Given the description of an element on the screen output the (x, y) to click on. 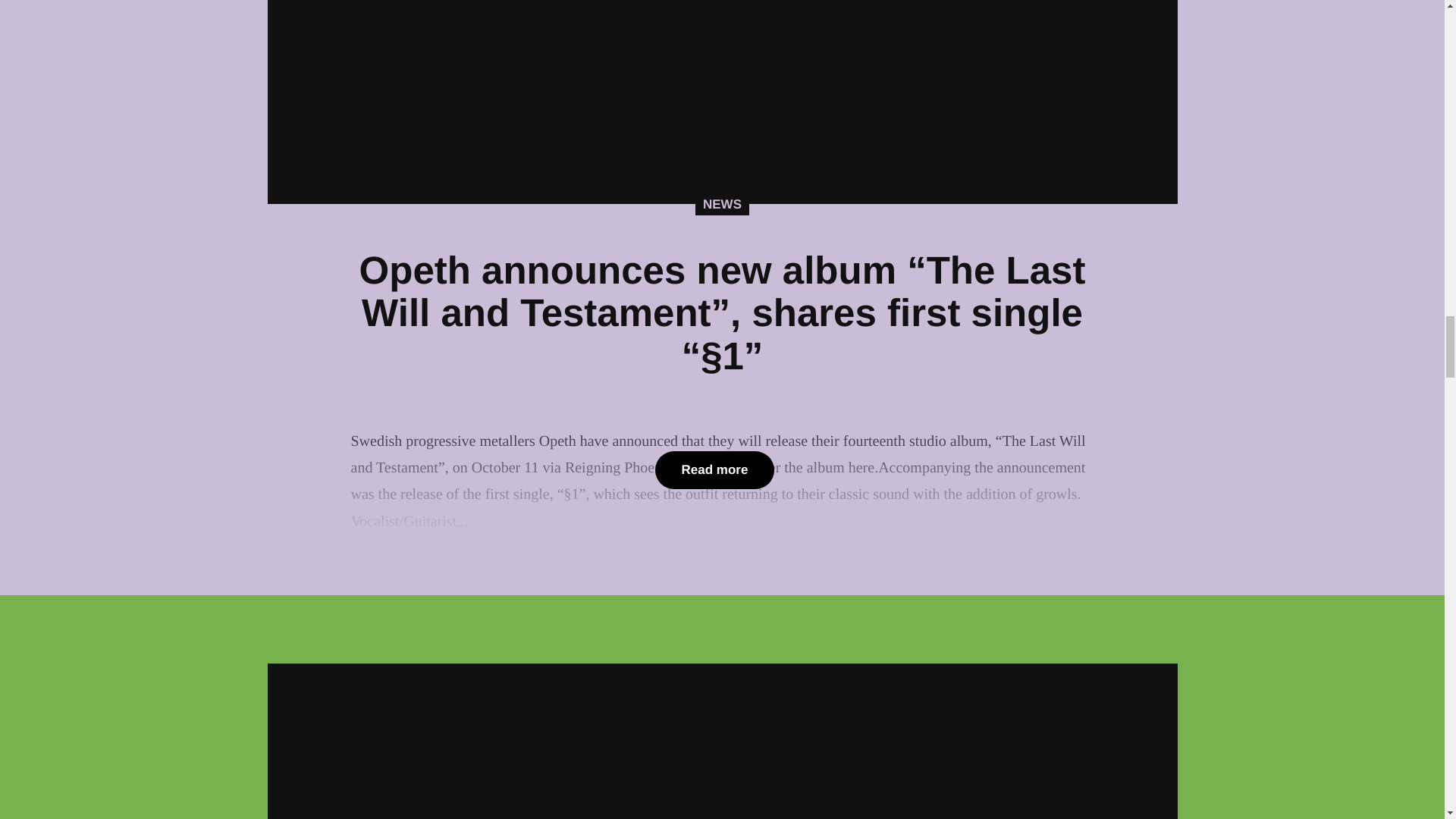
NEWS (722, 204)
